Given the description of an element on the screen output the (x, y) to click on. 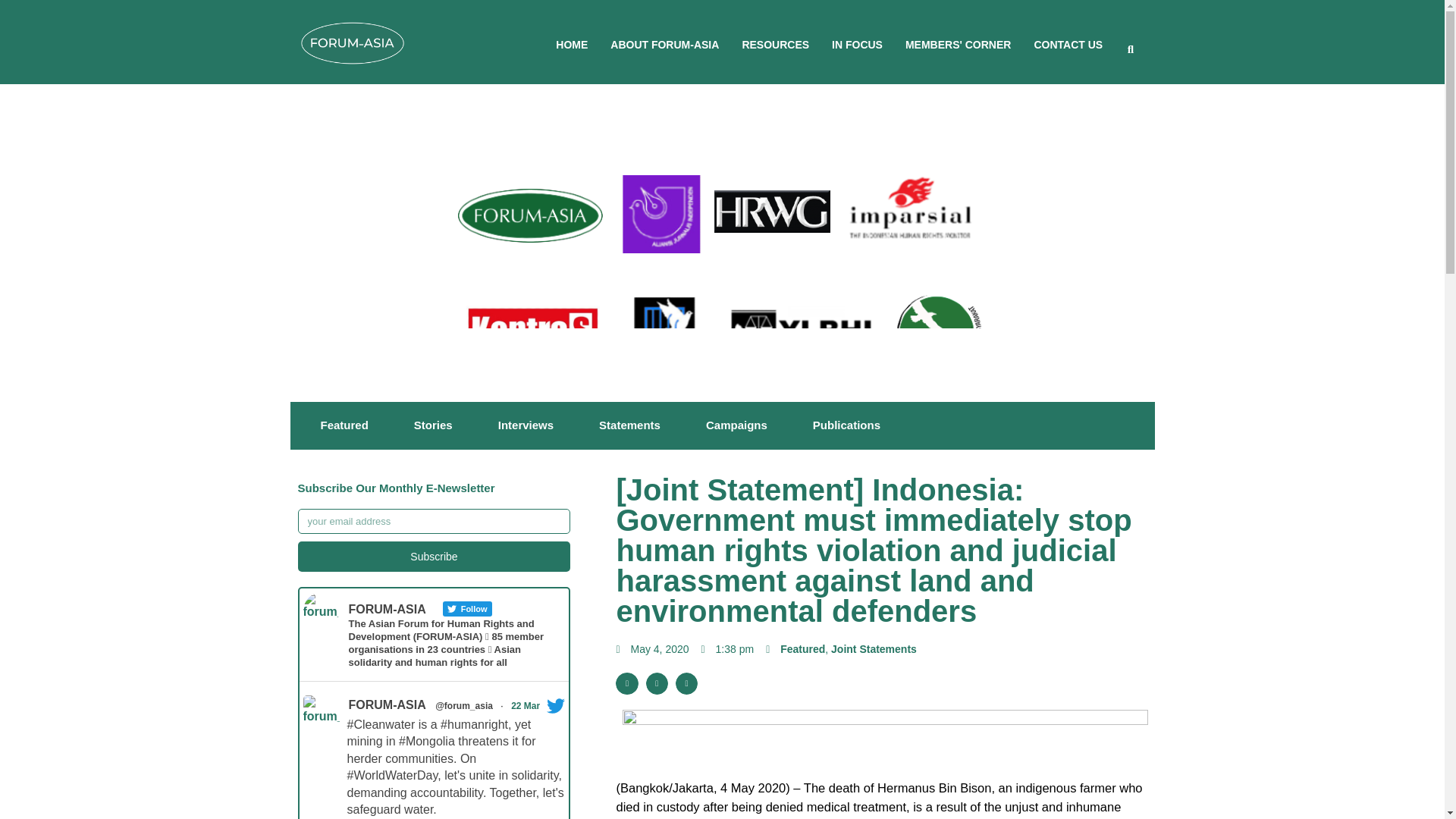
HOME (571, 44)
CONTACT US (1067, 44)
RESOURCES (774, 44)
ABOUT FORUM-ASIA (664, 44)
IN FOCUS (856, 44)
MEMBERS' CORNER (957, 44)
